Given the description of an element on the screen output the (x, y) to click on. 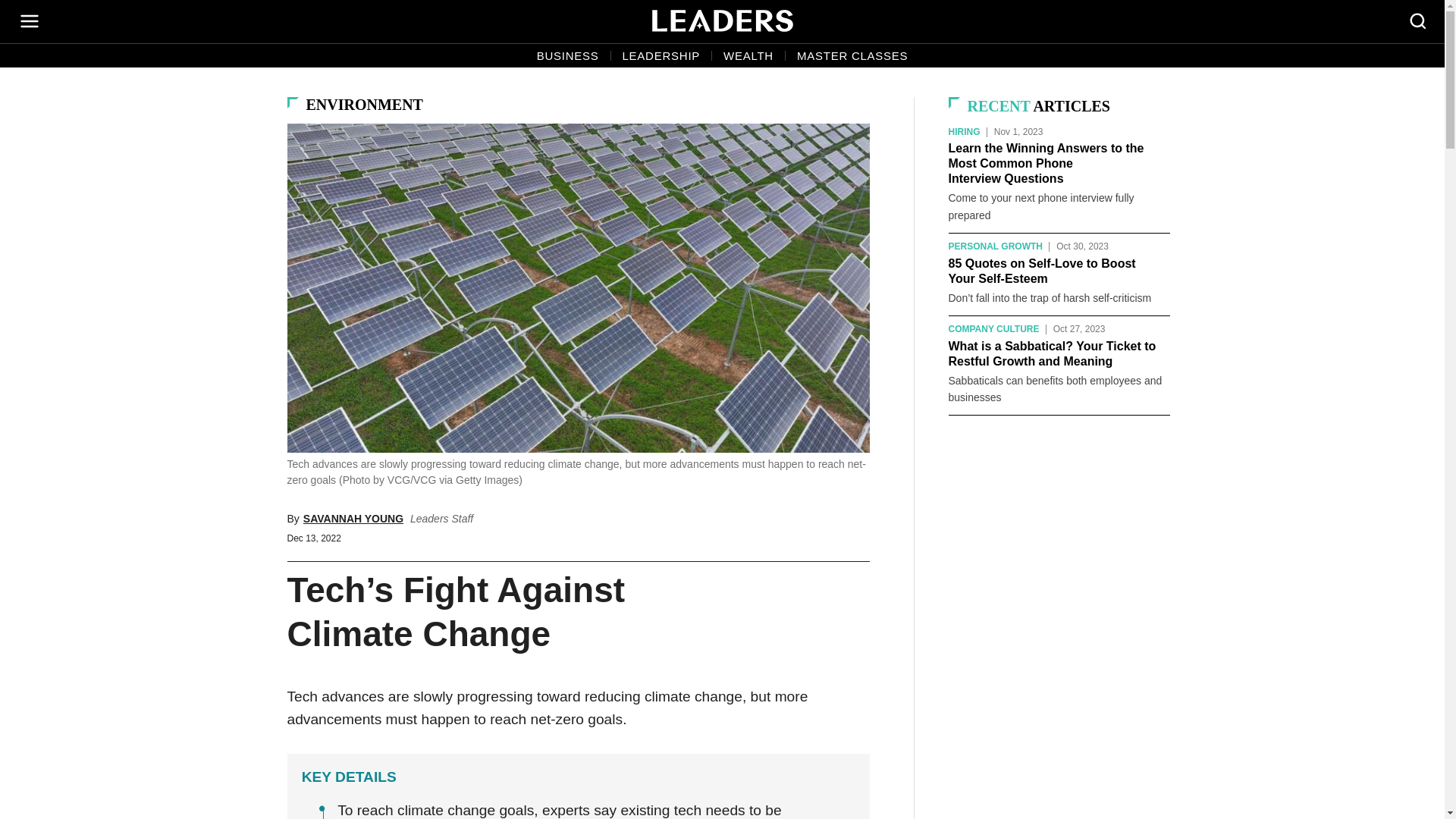
BUSINESS (567, 55)
LEADERSHIP (661, 55)
WEALTH (747, 55)
ENVIRONMENT (364, 104)
Leaders.com (722, 20)
MASTER CLASSES (852, 55)
SAVANNAH YOUNG (352, 518)
